Given the description of an element on the screen output the (x, y) to click on. 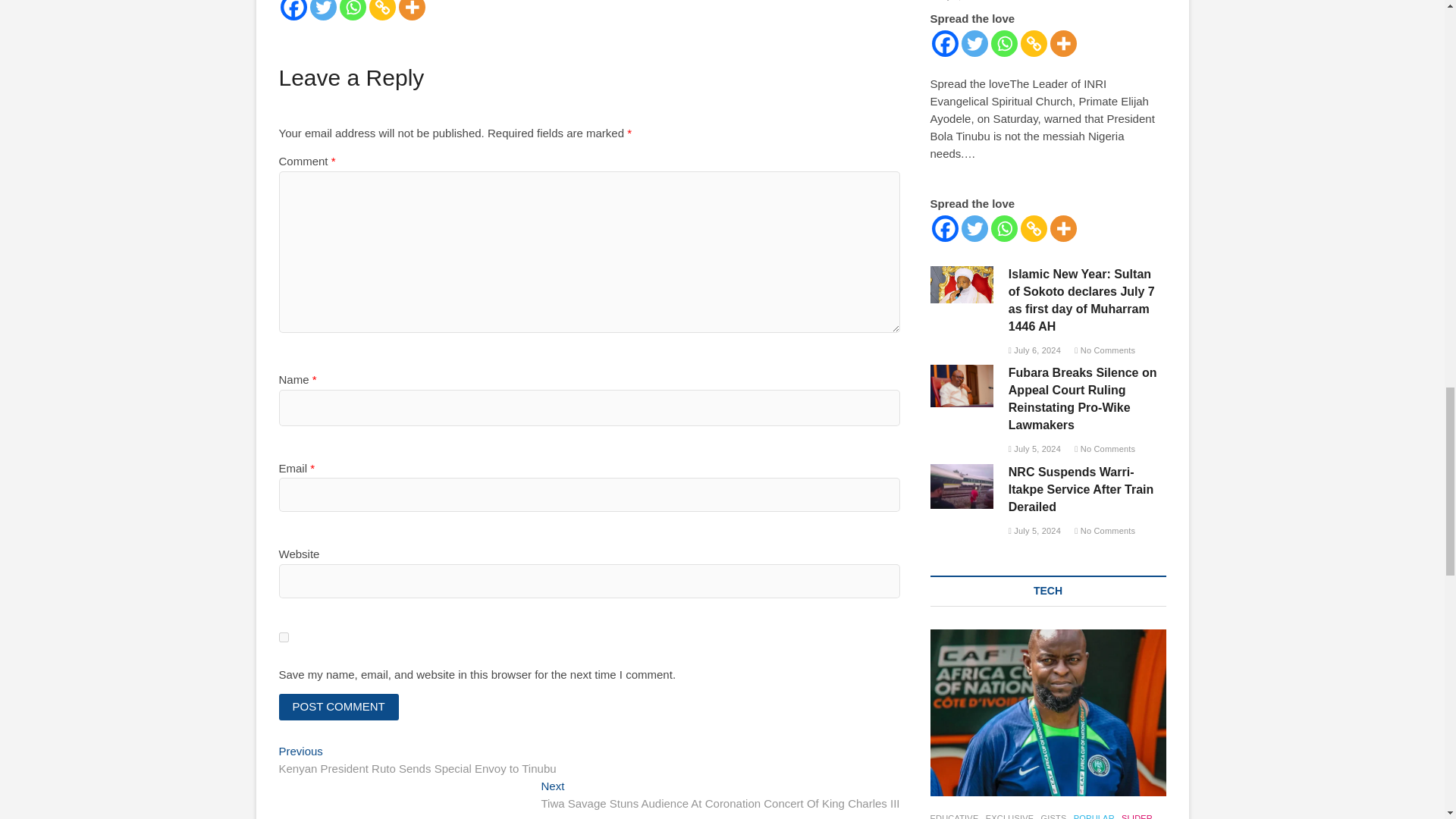
yes (283, 637)
Post Comment (338, 706)
